Given the description of an element on the screen output the (x, y) to click on. 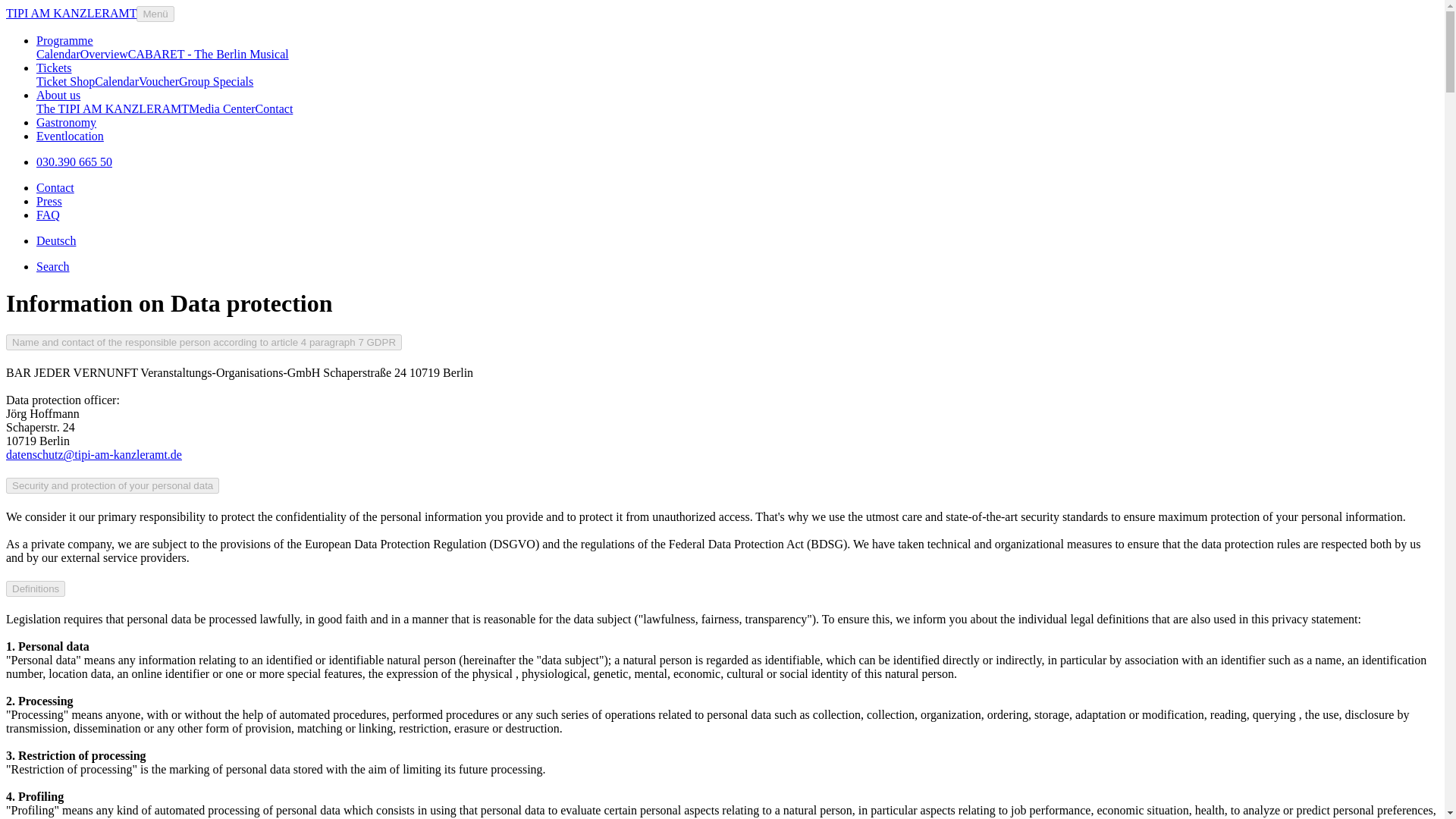
Eventlocation (69, 135)
TIPI AM KANZLERAMT (70, 12)
The TIPI AM KANZLERAMT (112, 108)
Deutsch (55, 240)
030.390 665 50 (74, 161)
Media Center (222, 108)
Group Specials (216, 81)
Search (52, 266)
Press (49, 201)
Tickets (53, 67)
Calendar (58, 53)
Search (52, 266)
Ticket Shop (65, 81)
Gastronomy (66, 122)
Overview (104, 53)
